Given the description of an element on the screen output the (x, y) to click on. 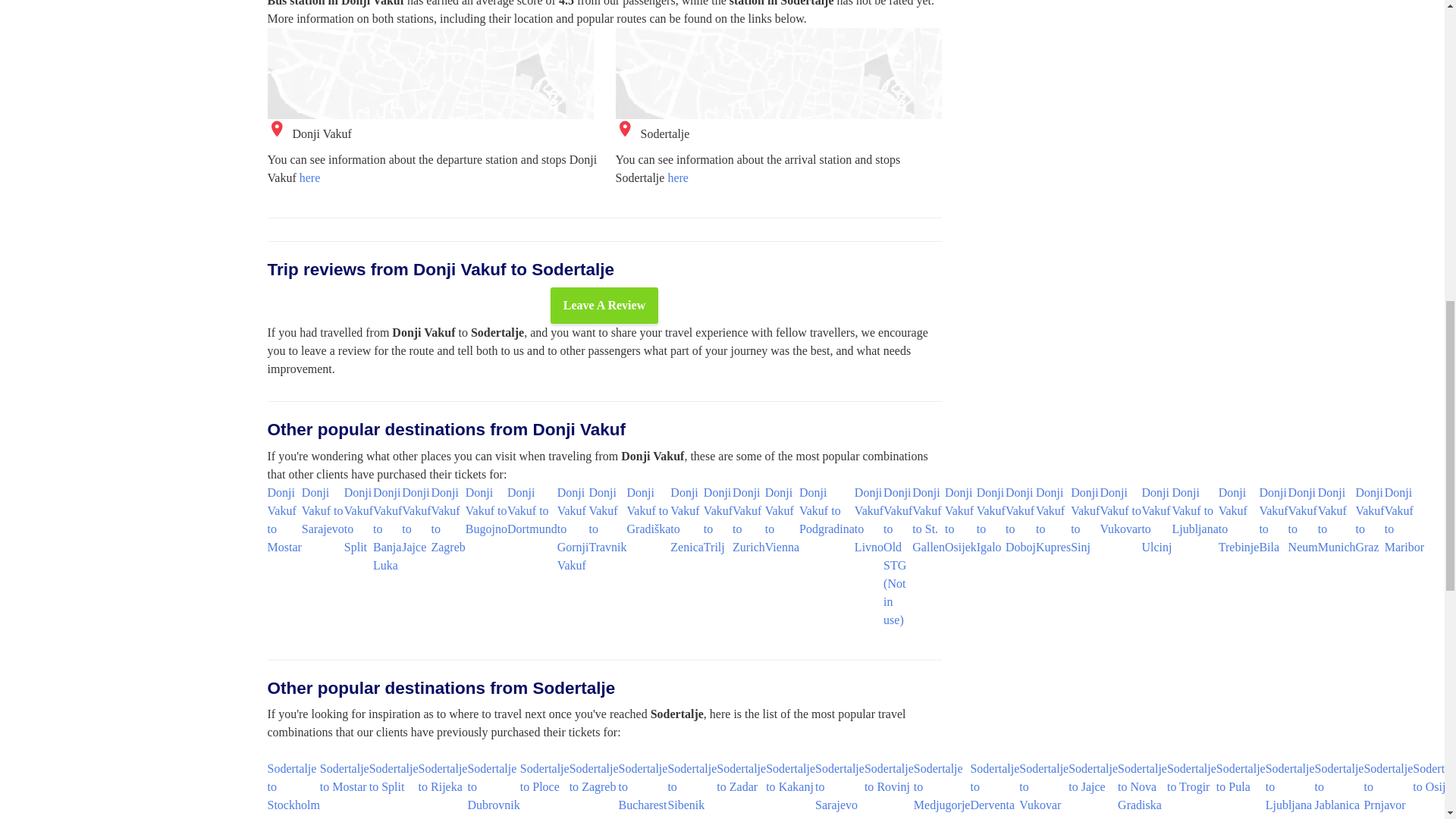
Donji Vakuf to Banja Luka (386, 527)
Donji Vakuf to Jajce (415, 518)
Donji Vakuf to Vienna (782, 518)
here (677, 177)
Donji Vakuf to Gornji Vakuf (573, 527)
here (309, 177)
Donji Vakuf to Mostar (283, 518)
Donji Vakuf to Split (357, 518)
Donji Vakuf to Zenica (686, 518)
Donji Vakuf to Trilj (717, 518)
Donji Vakuf to Dortmund (531, 509)
Donji Vakuf to Podgradina (826, 509)
Donji Vakuf to Bugojno (485, 509)
Donji Vakuf to Livno (868, 518)
Donji Vakuf to Zagreb (447, 518)
